Given the description of an element on the screen output the (x, y) to click on. 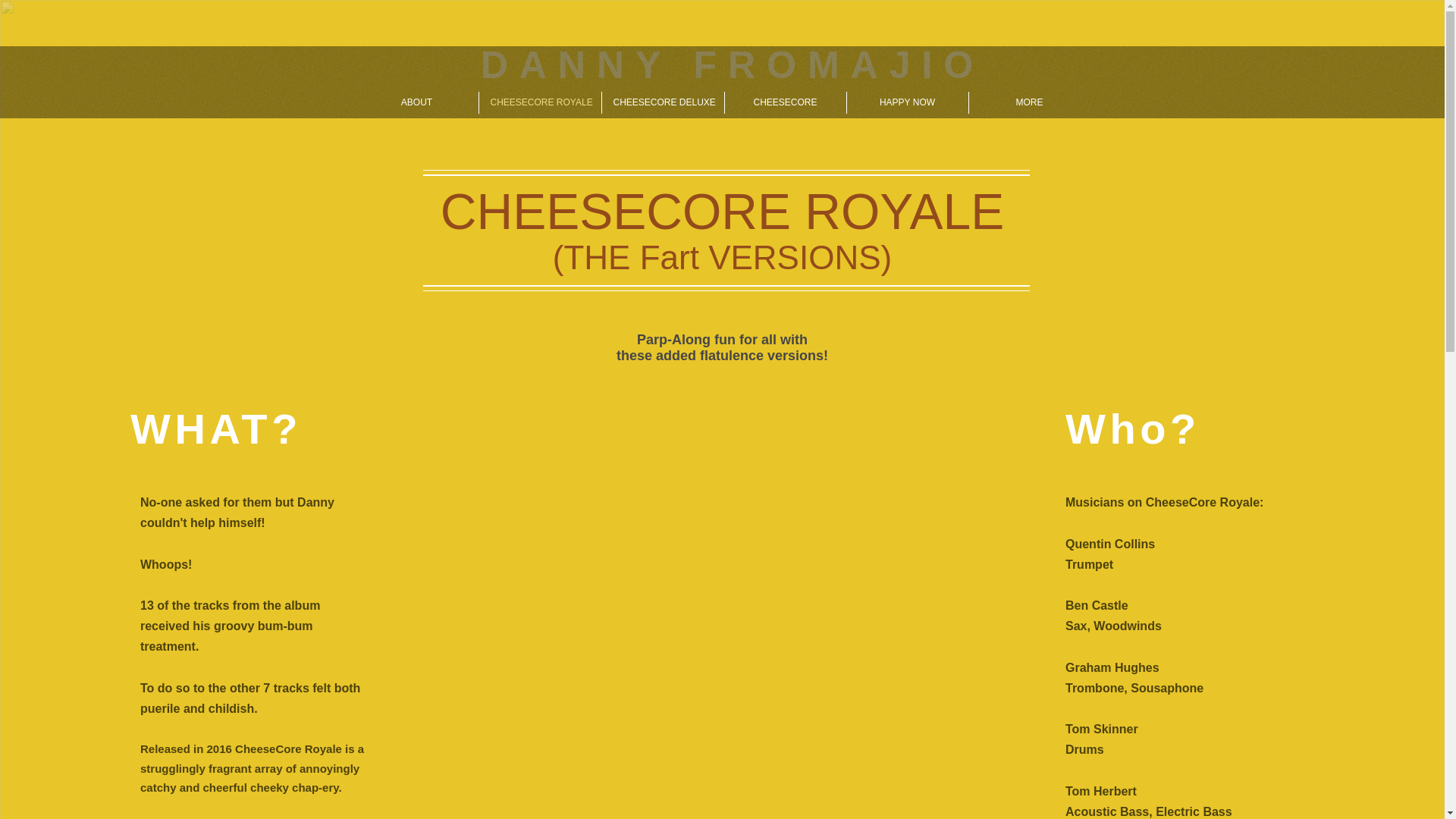
CHEESECORE ROYALE (540, 102)
HAPPY NOW (906, 102)
MORE (1029, 102)
CHEESECORE DELUXE (662, 102)
ABOUT (416, 102)
CHEESECORE (785, 102)
